Given the description of an element on the screen output the (x, y) to click on. 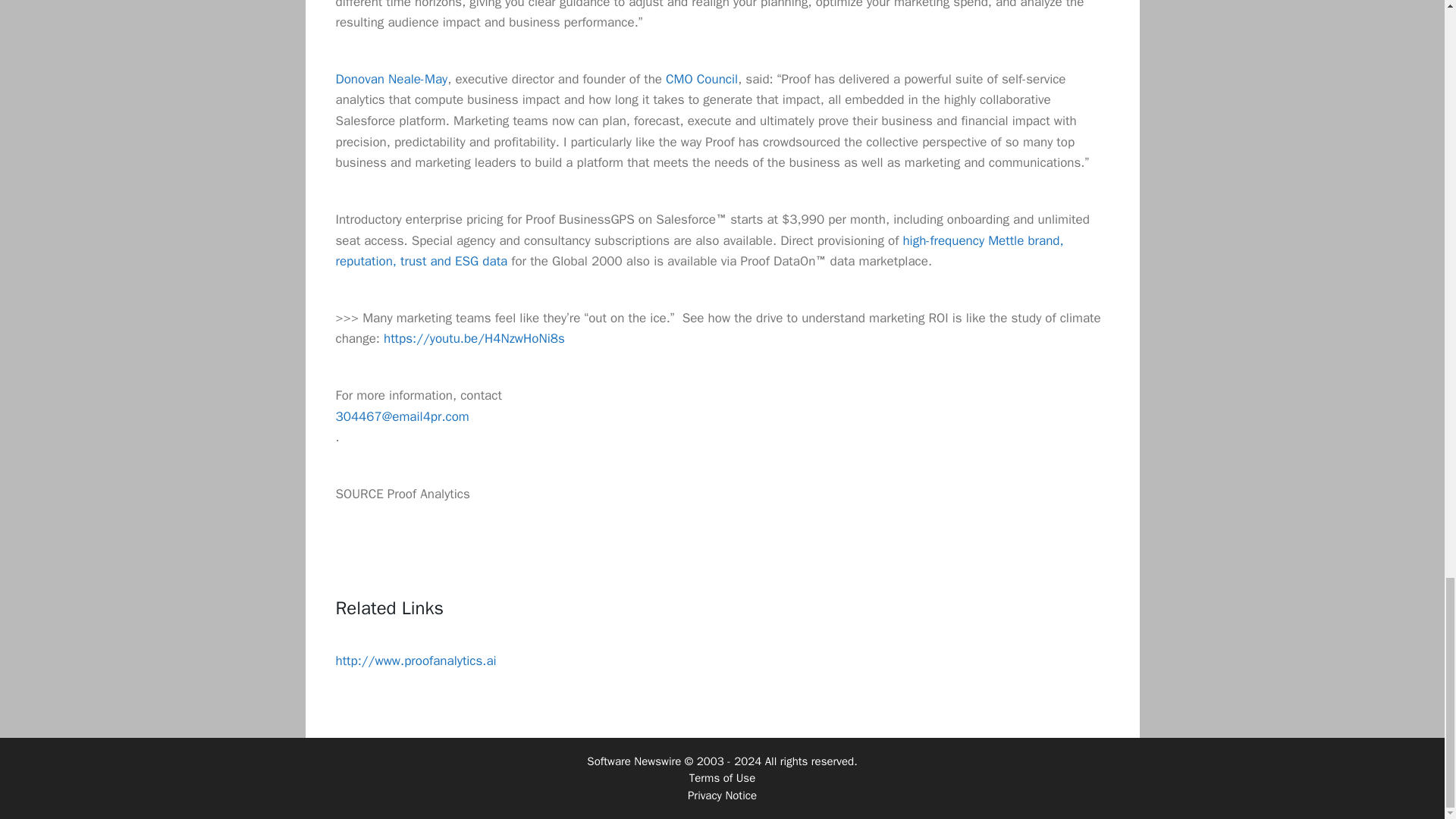
high-frequency Mettle brand, reputation, trust and ESG data (698, 251)
CMO Council (701, 78)
Privacy Notice (722, 795)
Terms of Use (721, 777)
Donovan Neale-May (390, 78)
